Given the description of an element on the screen output the (x, y) to click on. 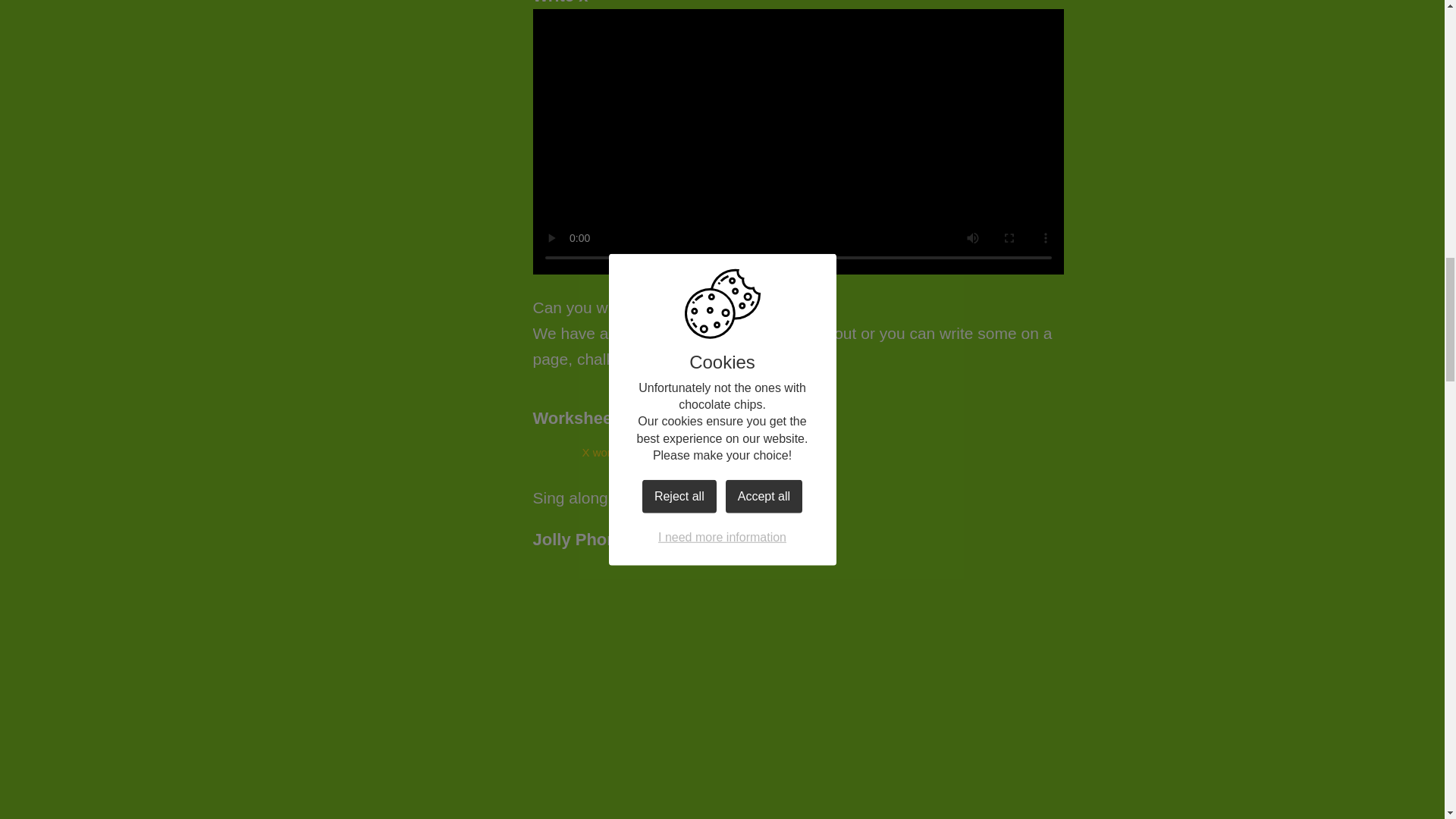
X worksheet (588, 452)
